Given the description of an element on the screen output the (x, y) to click on. 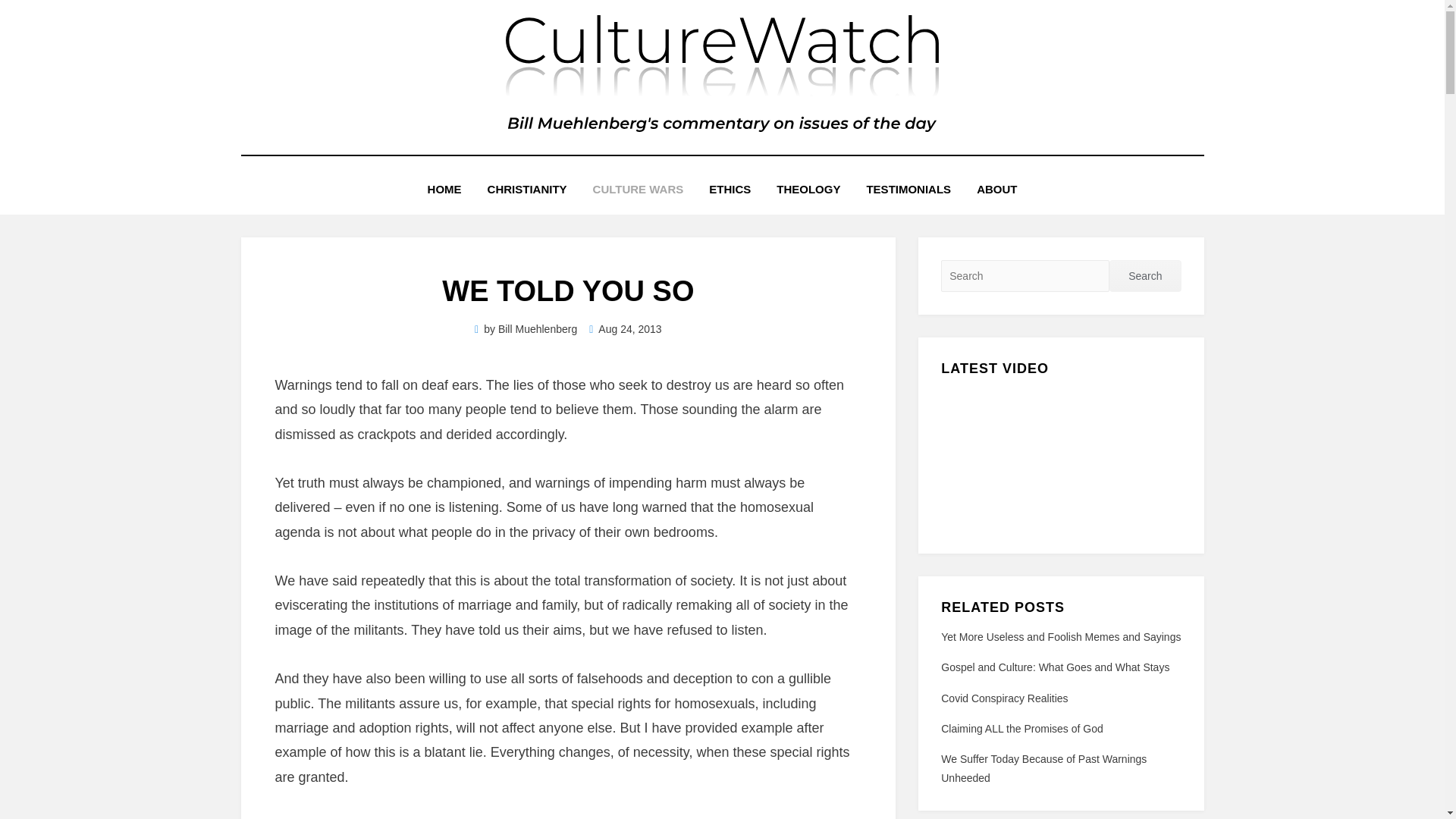
Aug 24, 2013 (625, 328)
TESTIMONIALS (908, 189)
ABOUT (996, 189)
THEOLOGY (807, 189)
CHRISTIANITY (526, 189)
CULTURE WARS (638, 189)
Bill Muehlenberg (536, 328)
HOME (444, 189)
ETHICS (728, 189)
